Given the description of an element on the screen output the (x, y) to click on. 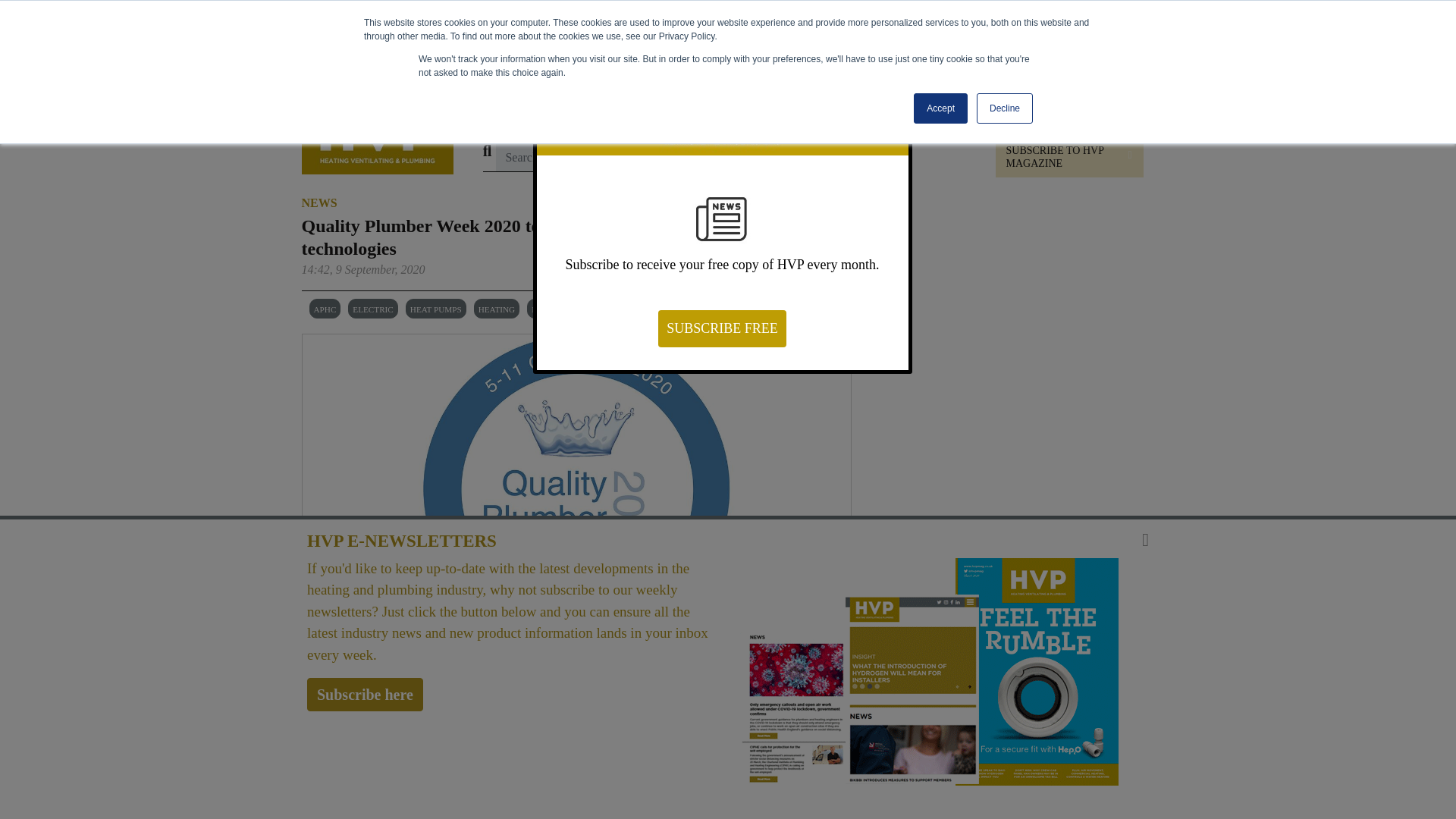
News (503, 113)
Magazine (783, 113)
Products (559, 113)
Linkedin (967, 688)
Accept (941, 108)
3rd party ad content (1002, 511)
Facebook (1013, 688)
3rd party ad content (1002, 303)
PHEX (845, 113)
3rd party ad content (734, 52)
Insight (620, 113)
Opinion (673, 113)
Decline (1004, 108)
Instagram (1059, 688)
Video (723, 113)
